Given the description of an element on the screen output the (x, y) to click on. 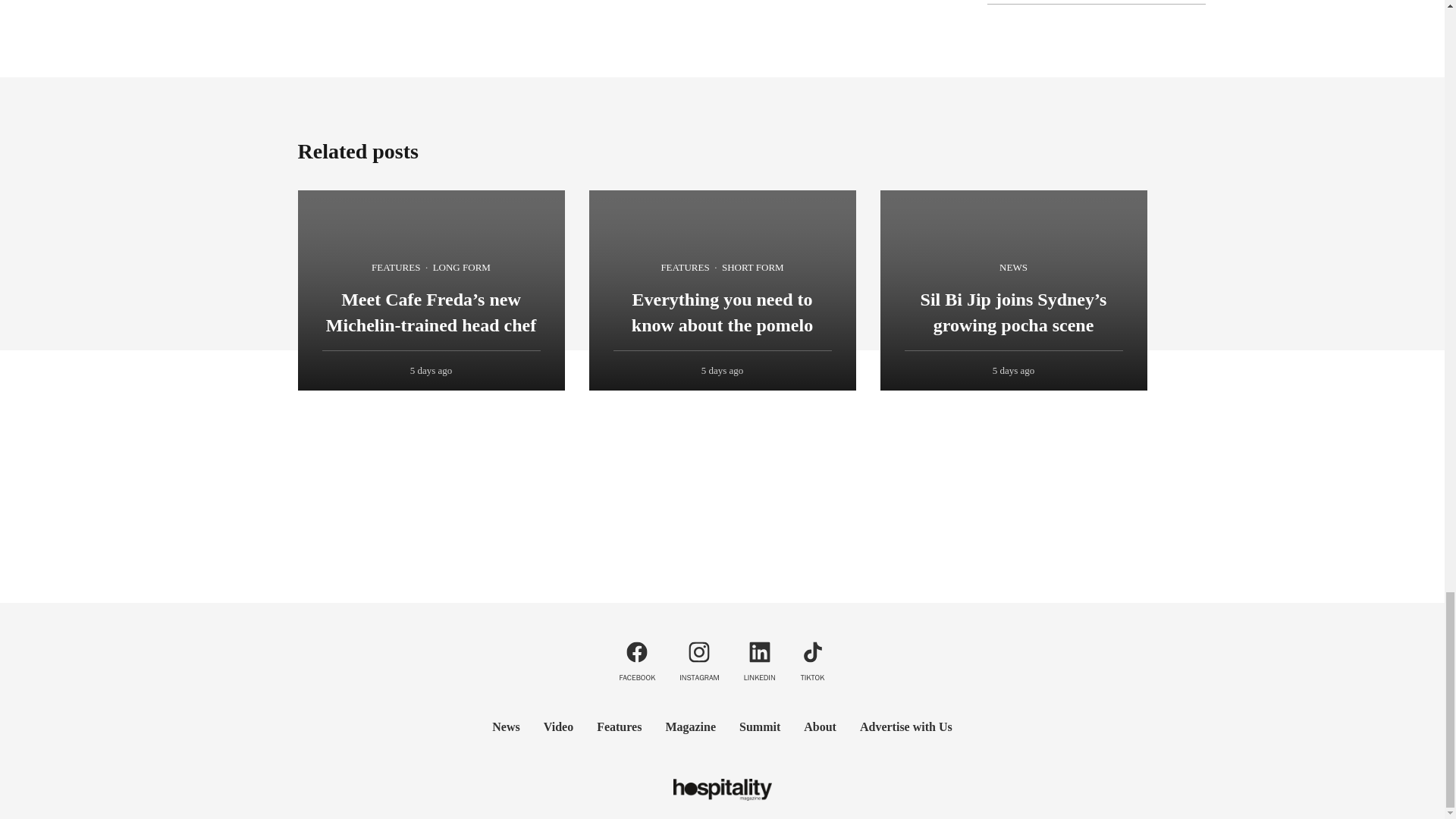
View all posts in Features (395, 267)
View all posts in Long Form (461, 267)
